Given the description of an element on the screen output the (x, y) to click on. 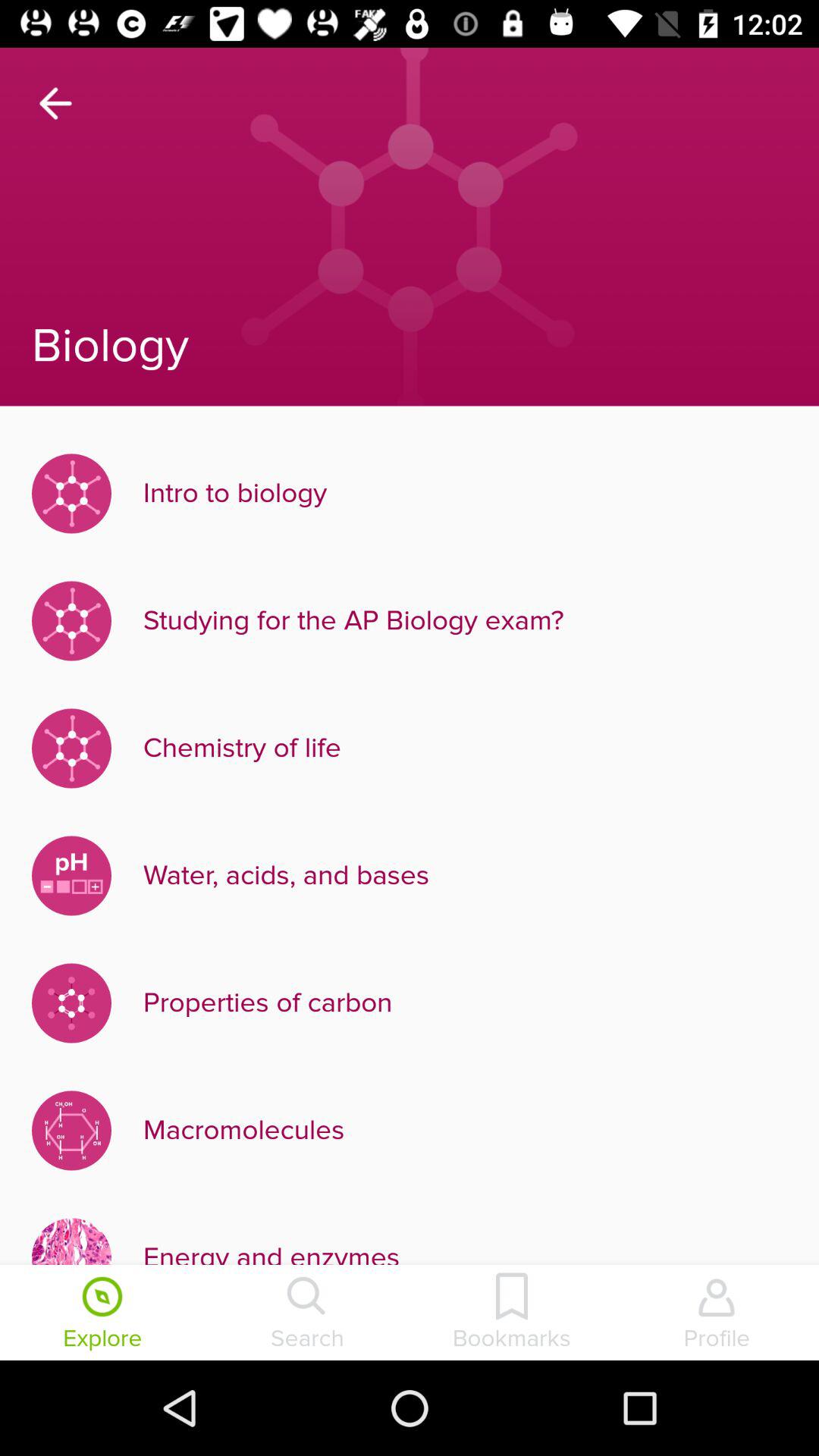
jump until the explore icon (102, 1314)
